Given the description of an element on the screen output the (x, y) to click on. 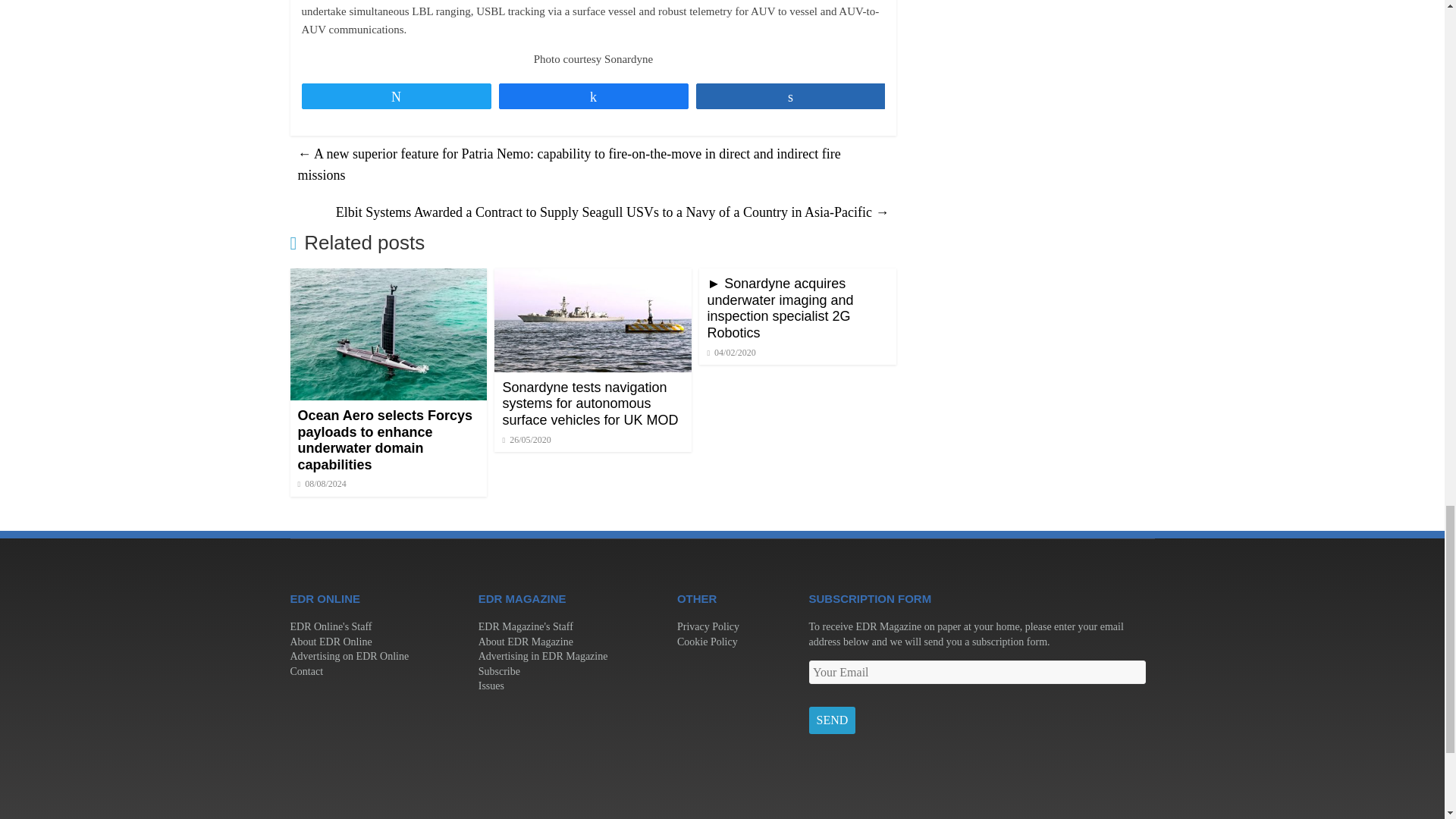
SEND (832, 719)
18:24 (321, 483)
